Given the description of an element on the screen output the (x, y) to click on. 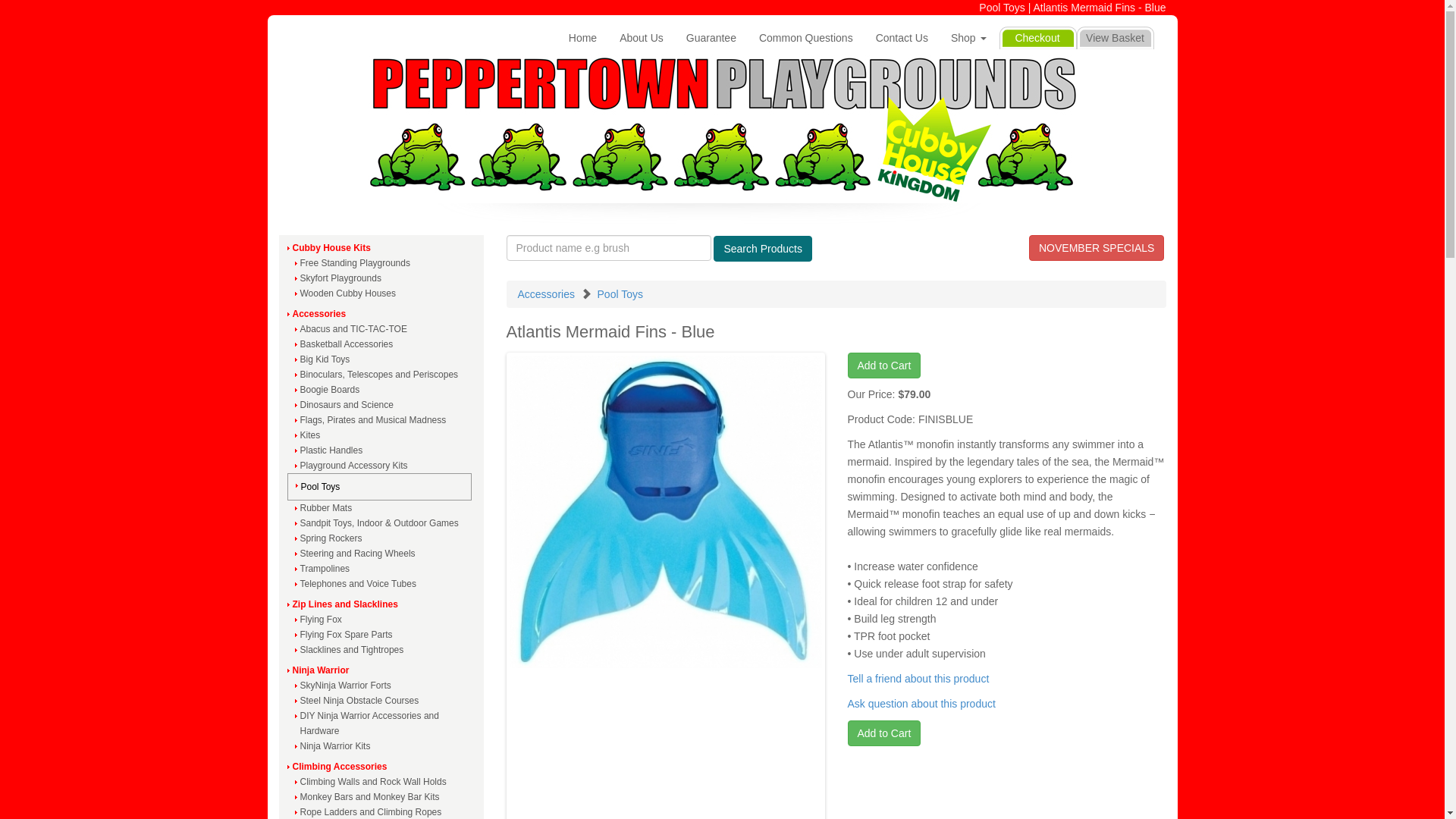
Add to Cart Element type: text (884, 733)
Zip Lines and Slacklines Element type: text (380, 603)
Monkey Bars and Monkey Bar Kits Element type: text (380, 796)
View Basket Element type: text (1115, 37)
Pool Toys Element type: text (620, 294)
Skyfort Playgrounds Element type: text (380, 277)
Kites Element type: text (380, 434)
Accessories Element type: text (380, 313)
Shop Element type: text (968, 37)
NOVEMBER SPECIALS Element type: text (1096, 247)
Abacus and TIC-TAC-TOE Element type: text (380, 328)
Climbing Accessories Element type: text (380, 766)
Telephones and Voice Tubes Element type: text (380, 583)
Playground Accessory Kits Element type: text (380, 465)
Flying Fox Spare Parts Element type: text (380, 634)
Boogie Boards Element type: text (380, 389)
About Us Element type: text (641, 37)
Dinosaurs and Science Element type: text (380, 404)
Guarantee Element type: text (710, 37)
Tell a friend about this product Element type: text (918, 678)
Ask question about this product Element type: text (921, 703)
Home Element type: text (582, 37)
Search Products Element type: text (762, 248)
Common Questions Element type: text (805, 37)
Accessories Element type: text (545, 294)
Spring Rockers Element type: text (380, 538)
SkyNinja Warrior Forts Element type: text (380, 685)
Trampolines Element type: text (380, 568)
Sandpit Toys, Indoor & Outdoor Games Element type: text (380, 522)
Rubber Mats Element type: text (380, 507)
Wooden Cubby Houses Element type: text (380, 293)
DIY Ninja Warrior Accessories and Hardware Element type: text (380, 723)
Free Standing Playgrounds Element type: text (380, 262)
Add to Cart Element type: text (884, 365)
Binoculars, Telescopes and Periscopes Element type: text (380, 374)
Big Kid Toys Element type: text (380, 359)
Climbing Walls and Rock Wall Holds Element type: text (380, 781)
Pool Toys Element type: text (378, 486)
Ninja Warrior Element type: text (380, 669)
Slacklines and Tightropes Element type: text (380, 649)
Flying Fox Element type: text (380, 619)
Basketball Accessories Element type: text (380, 343)
Plastic Handles Element type: text (380, 450)
Steering and Racing Wheels Element type: text (380, 553)
Checkout Element type: text (1036, 37)
Steel Ninja Obstacle Courses Element type: text (380, 700)
Contact Us Element type: text (901, 37)
Cubby House Kits Element type: text (380, 247)
Flags, Pirates and Musical Madness Element type: text (380, 419)
Ninja Warrior Kits Element type: text (380, 745)
